Given the description of an element on the screen output the (x, y) to click on. 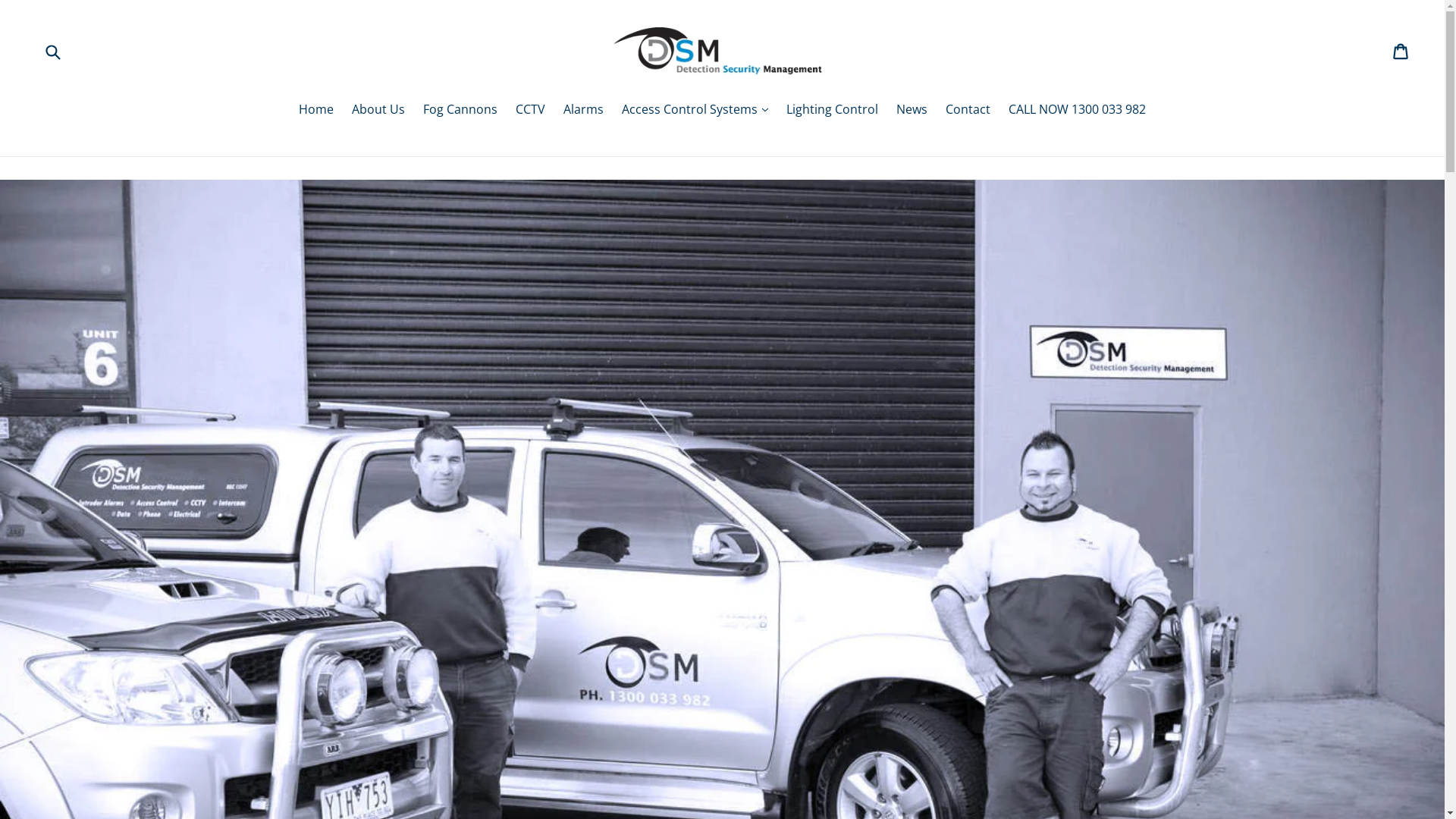
Submit Element type: text (51, 51)
Fog Cannons Element type: text (460, 110)
Lighting Control Element type: text (831, 110)
News Element type: text (911, 110)
Cart
Cart Element type: text (1401, 51)
Alarms Element type: text (583, 110)
Home Element type: text (316, 110)
Contact Element type: text (967, 110)
CCTV Element type: text (530, 110)
CALL NOW 1300 033 982 Element type: text (1077, 110)
About Us Element type: text (378, 110)
